Given the description of an element on the screen output the (x, y) to click on. 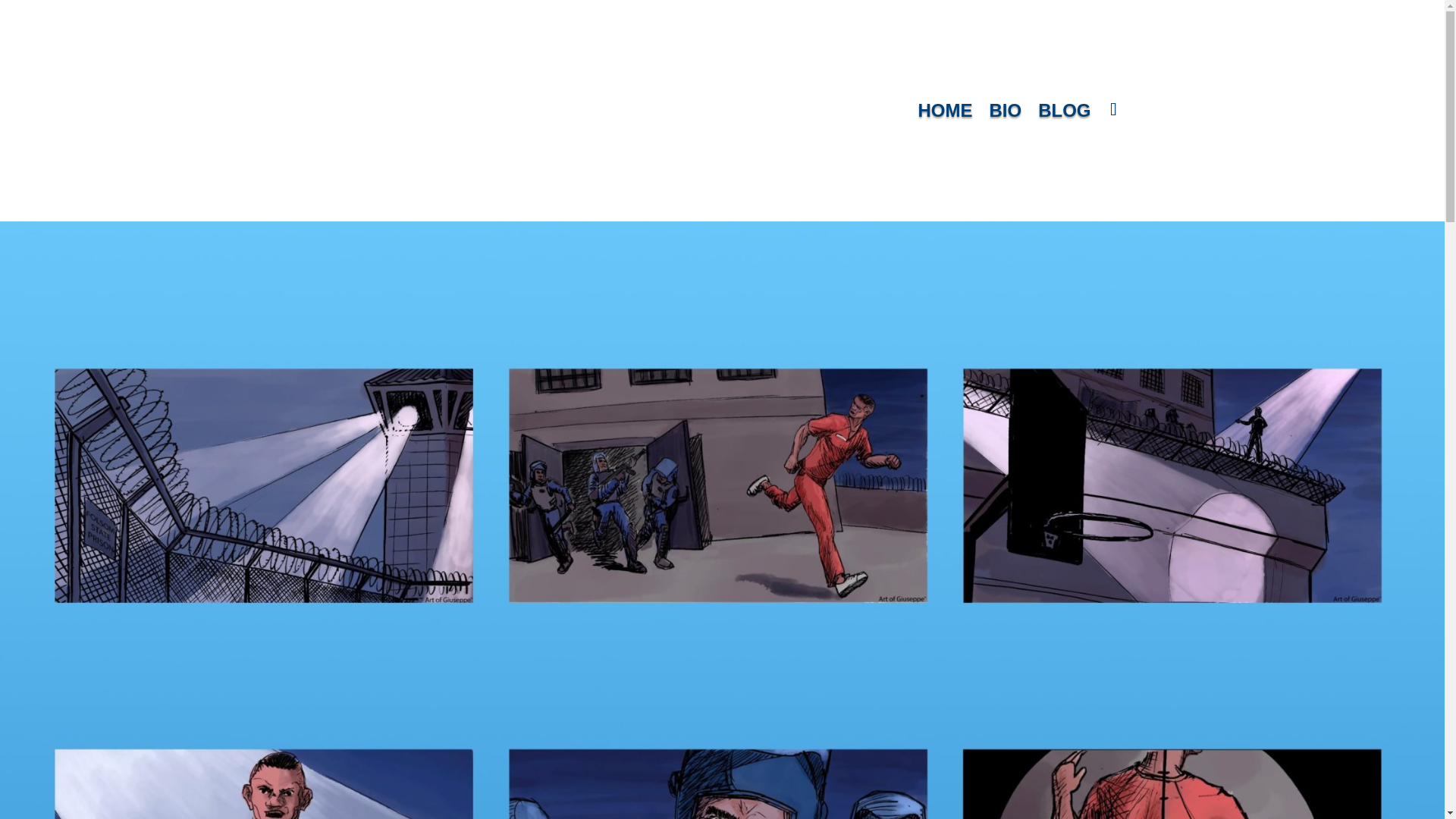
Follow on LinkedIn (1112, 108)
BIO (1005, 113)
HOME (944, 113)
BLOG (1064, 113)
